Given the description of an element on the screen output the (x, y) to click on. 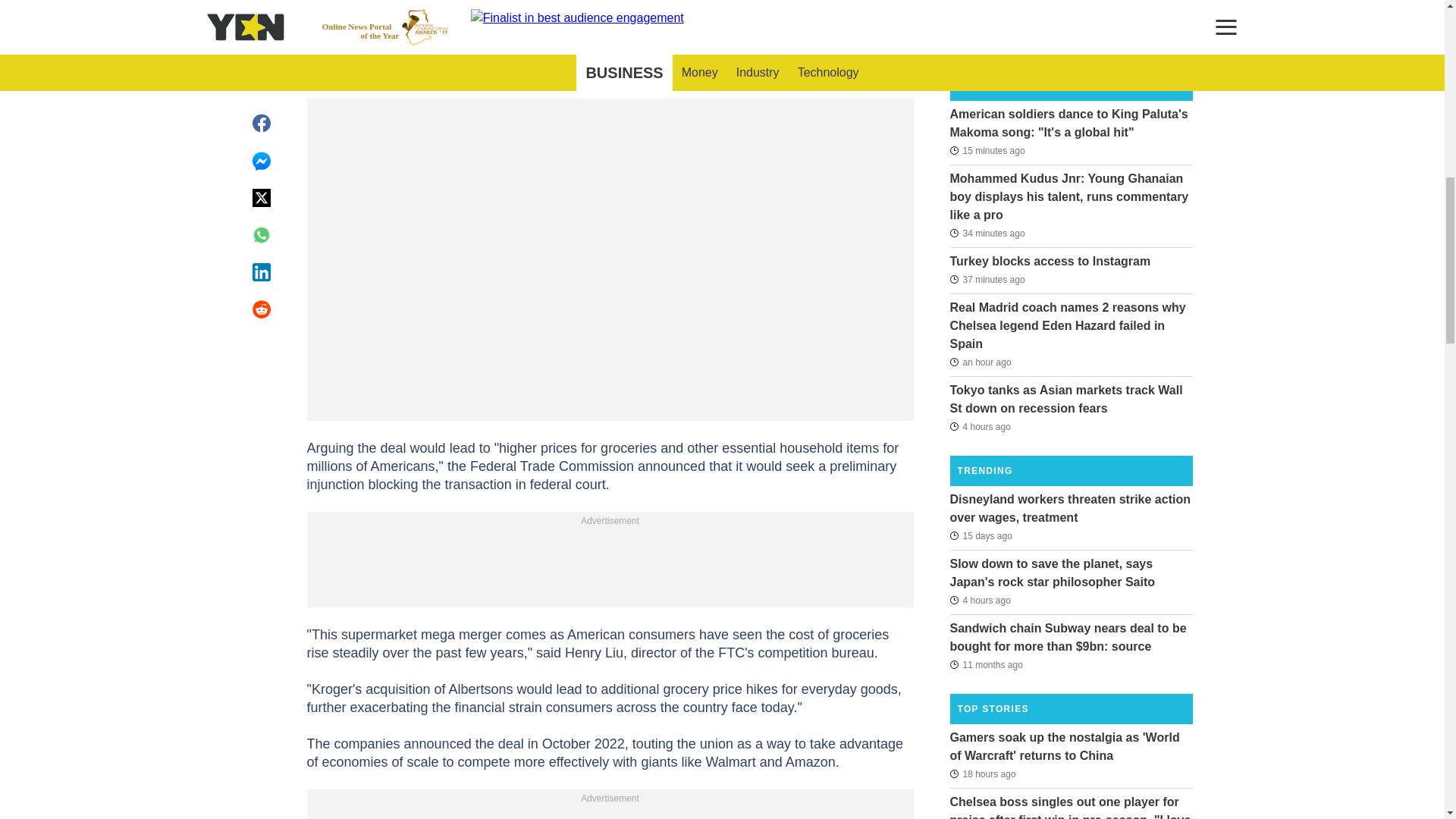
FB Broadcast Channel (594, 12)
2024-07-18T02:29:03Z (980, 535)
2024-08-02T06:49:43Z (987, 149)
2024-08-02T06:31:20Z (987, 233)
2024-08-02T02:33:04Z (979, 600)
2024-08-02T06:01:09Z (979, 361)
2023-08-22T16:56:05Z (985, 664)
2024-08-02T06:28:04Z (987, 279)
2024-08-02T02:44:04Z (979, 425)
2024-08-01T12:10:14Z (981, 773)
